Given the description of an element on the screen output the (x, y) to click on. 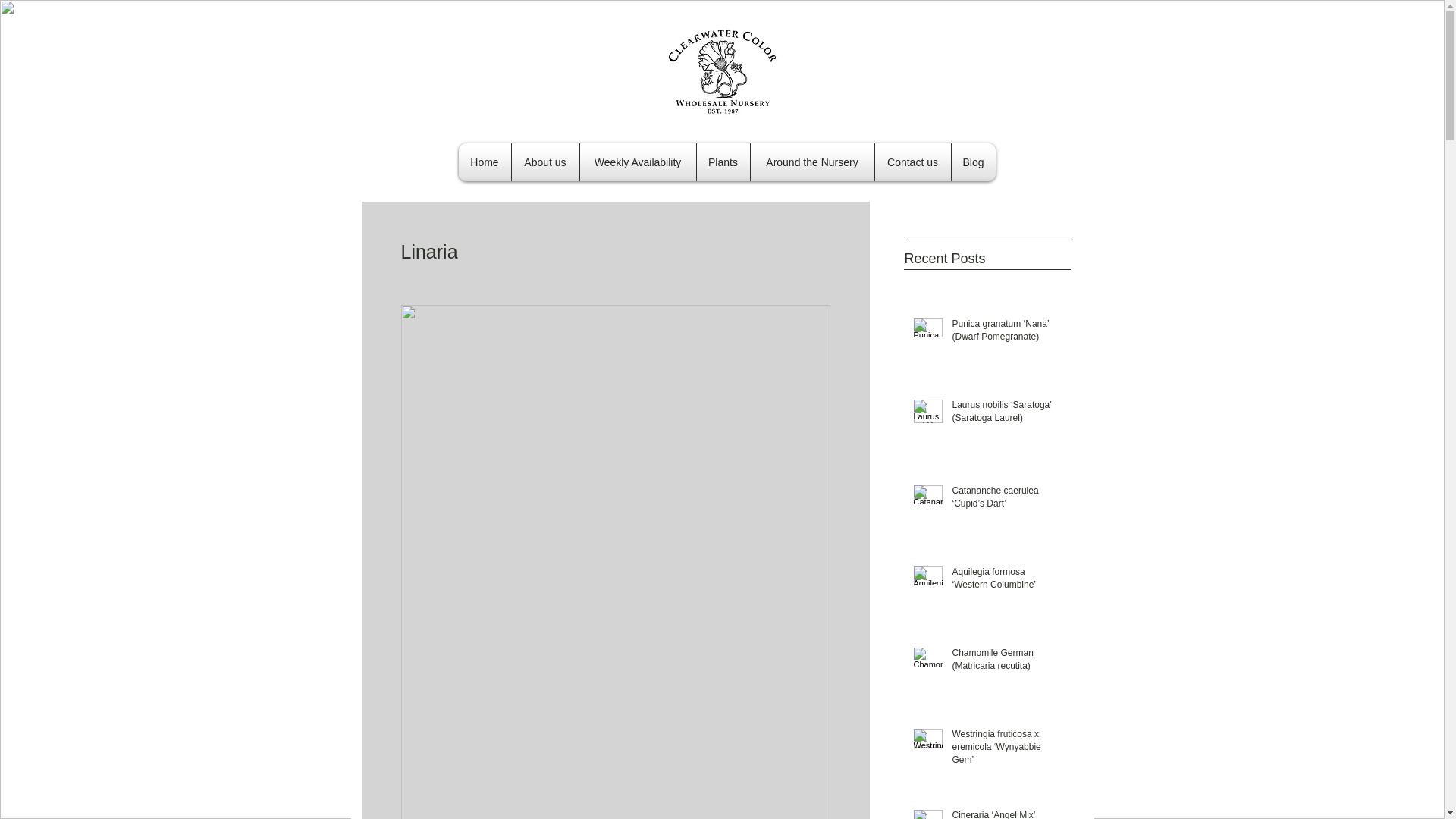
About us (544, 161)
Around the Nursery (813, 161)
Weekly Availability (637, 161)
Contact us (912, 161)
Home (484, 161)
Blog (972, 161)
Plants (722, 161)
